Given the description of an element on the screen output the (x, y) to click on. 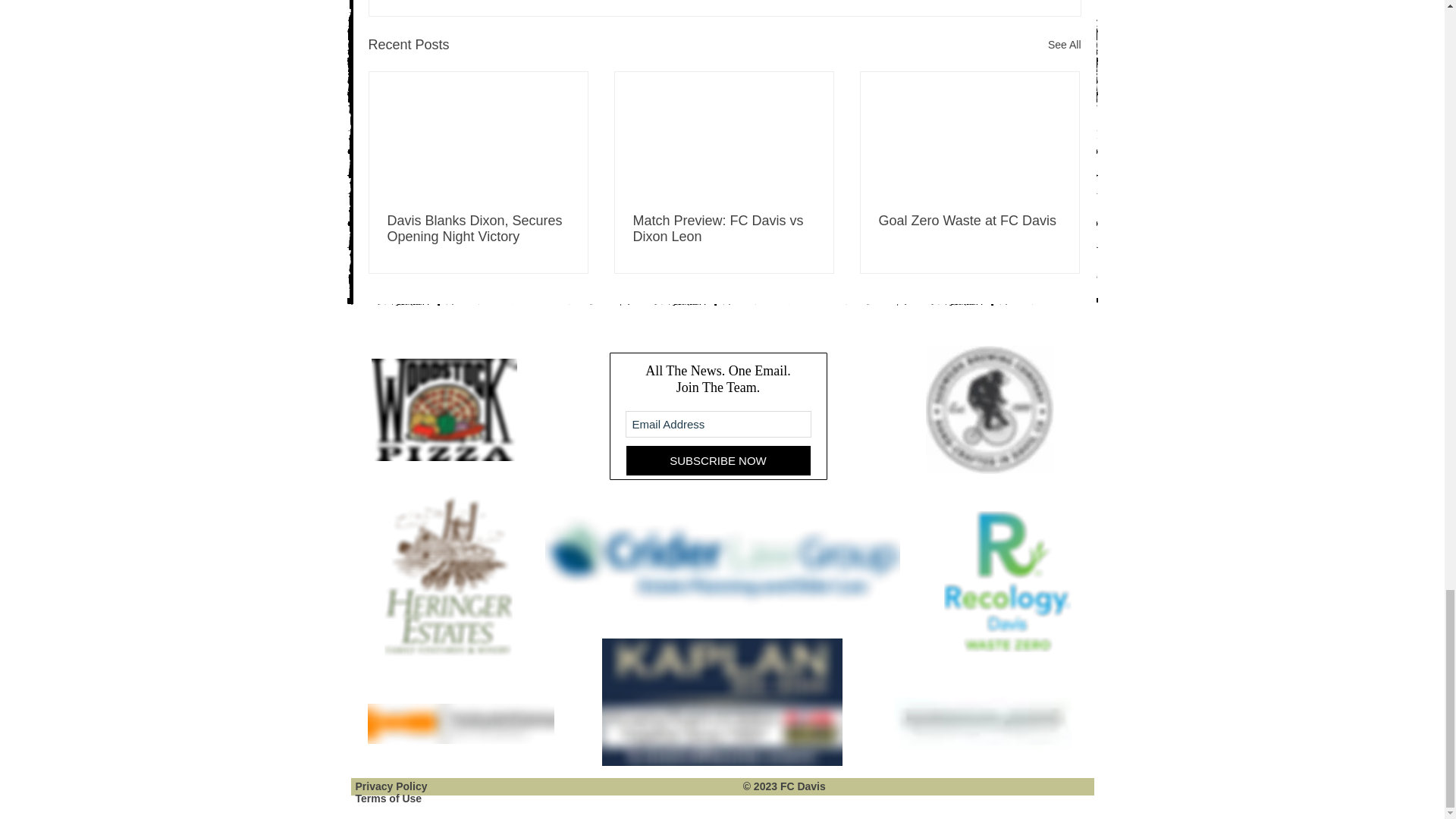
Davis Blanks Dixon, Secures Opening Night Victory (478, 228)
See All (1064, 45)
Goal Zero Waste at FC Davis (968, 220)
SUBSCRIBE NOW (717, 460)
Match Preview: FC Davis vs Dixon Leon (722, 228)
